Given the description of an element on the screen output the (x, y) to click on. 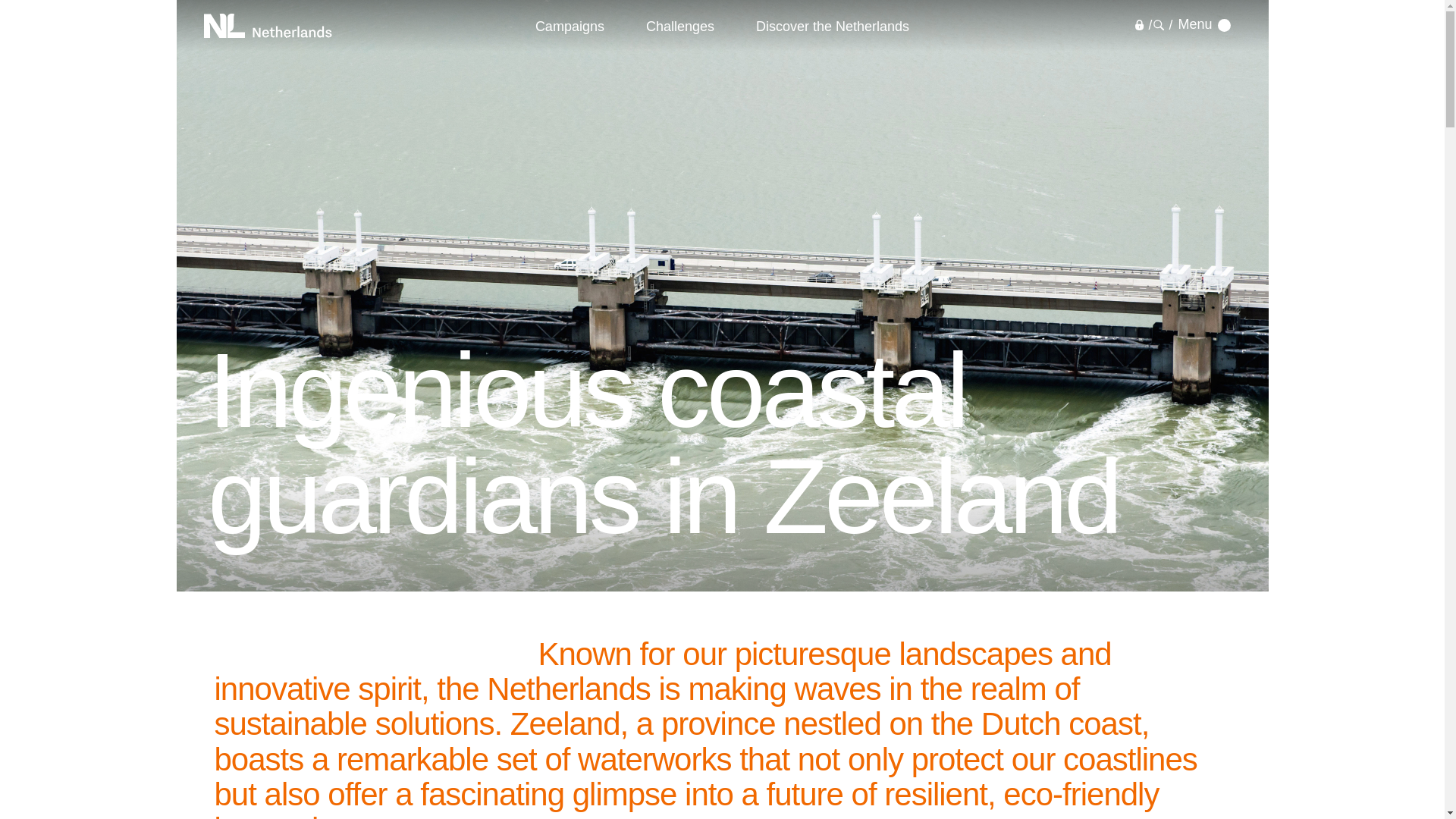
Campaigns (569, 26)
Challenges (680, 26)
Home (267, 25)
Discover the Netherlands (832, 26)
